Given the description of an element on the screen output the (x, y) to click on. 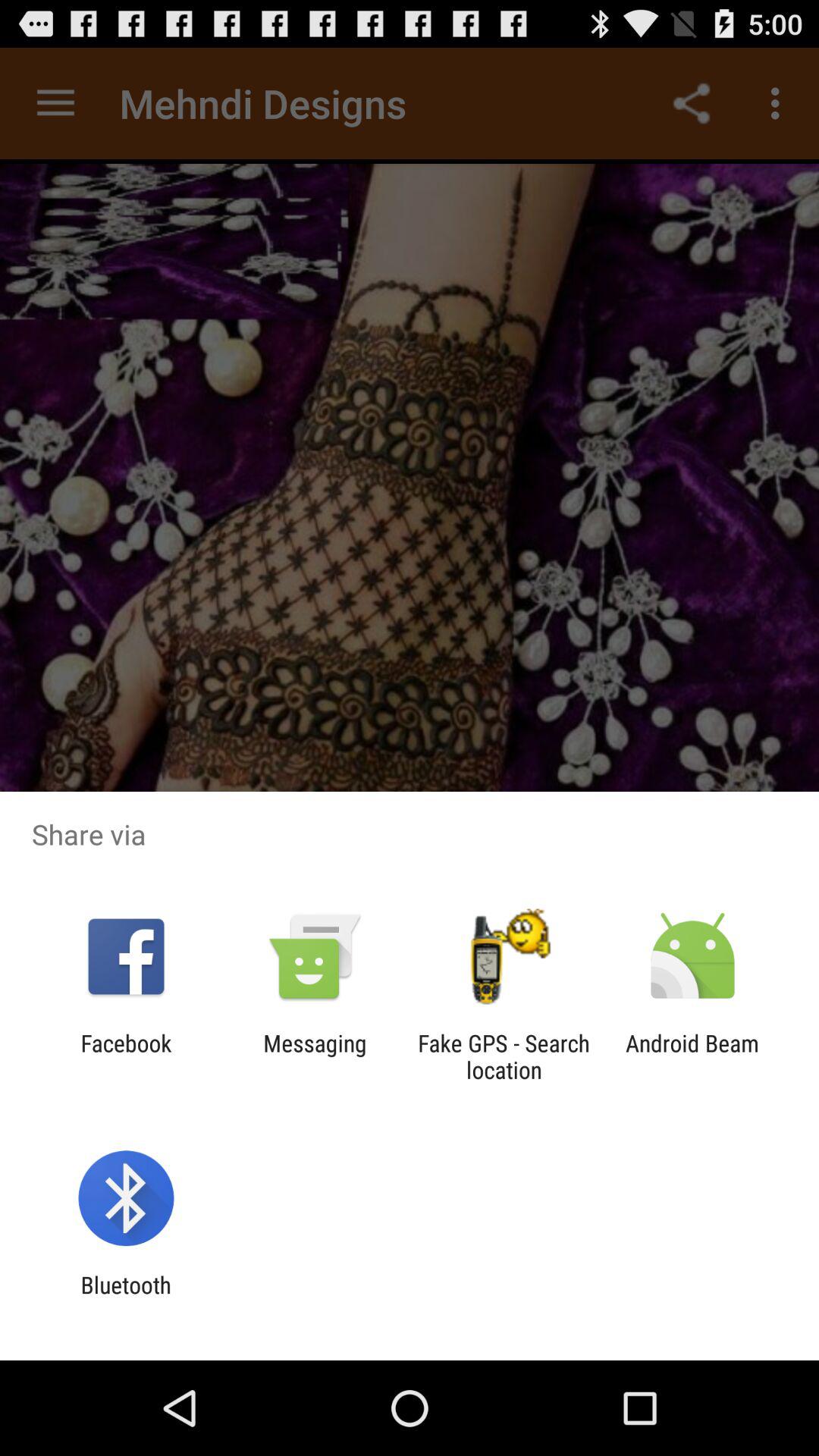
press the bluetooth (125, 1298)
